Given the description of an element on the screen output the (x, y) to click on. 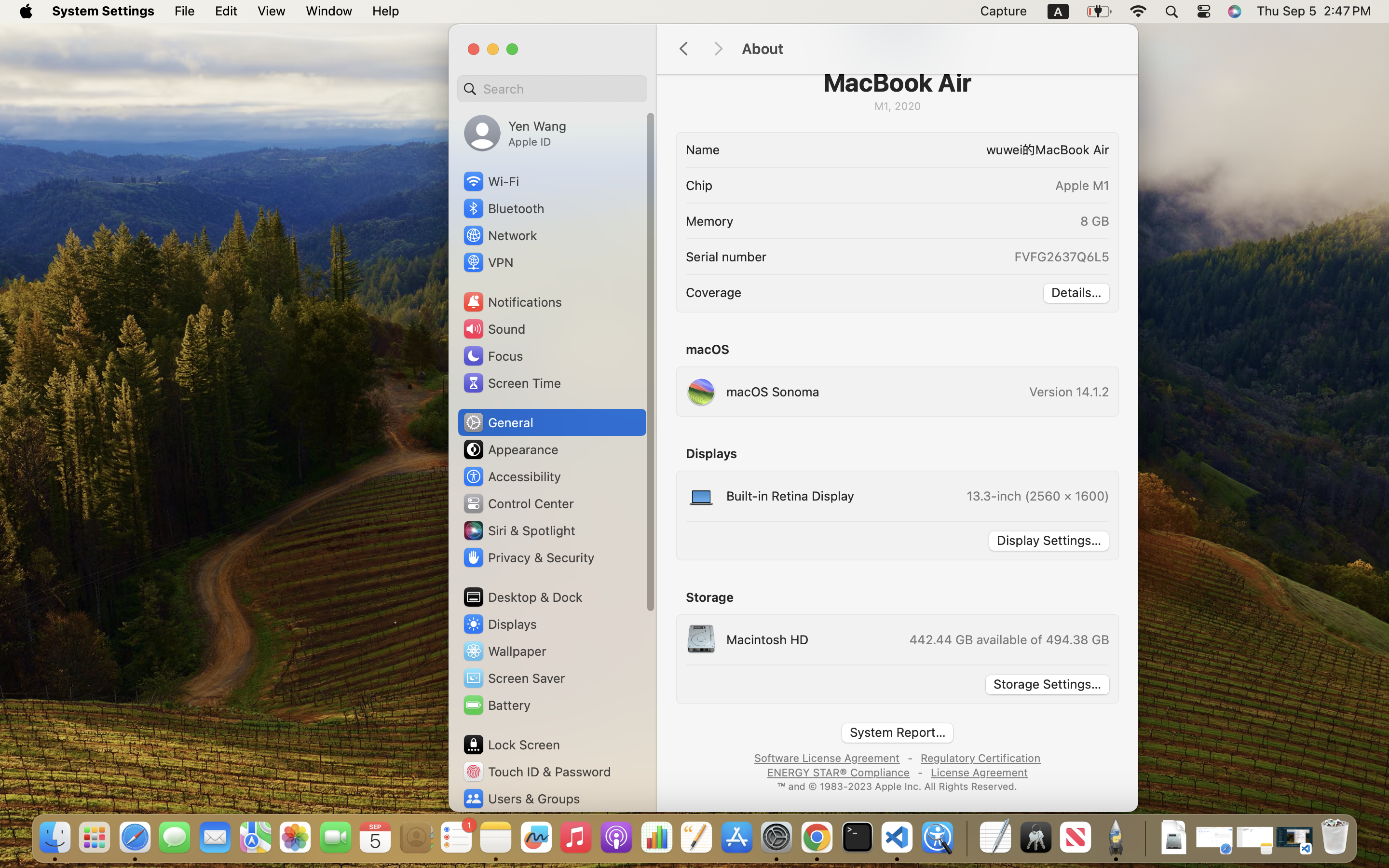
Regulatory Certification Element type: AXStaticText (979, 756)
Network Element type: AXStaticText (499, 234)
M1, 2020 Element type: AXStaticText (896, 105)
Coverage Element type: AXStaticText (713, 291)
General Element type: AXStaticText (497, 422)
